Given the description of an element on the screen output the (x, y) to click on. 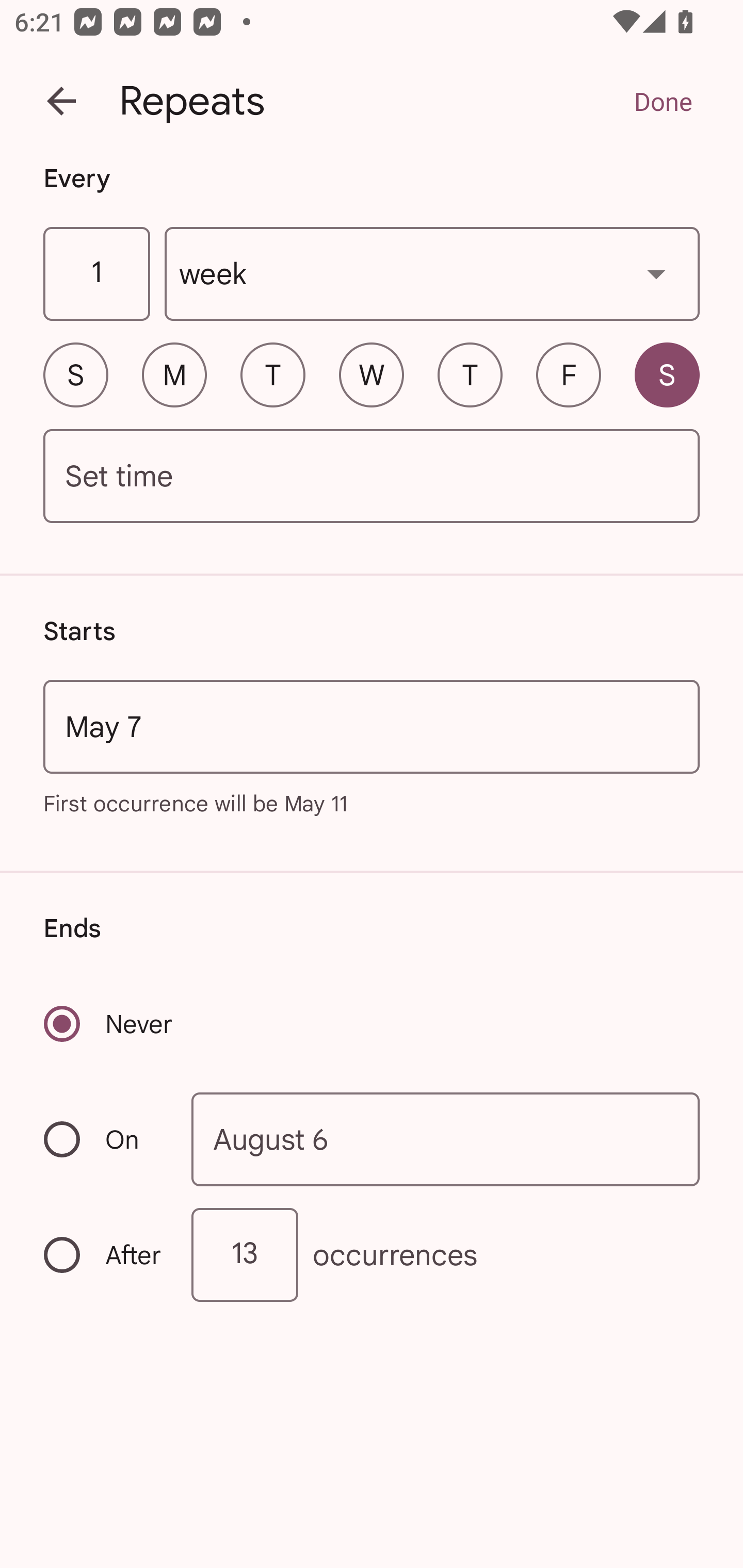
Back (61, 101)
Done (663, 101)
1 (96, 274)
week (431, 274)
Show dropdown menu (655, 273)
S Sunday (75, 374)
M Monday (173, 374)
T Tuesday (272, 374)
W Wednesday (371, 374)
T Thursday (469, 374)
F Friday (568, 374)
S Saturday, selected (666, 374)
Set time (371, 476)
May 7 (371, 726)
Never Recurrence never ends (109, 1023)
August 6 (445, 1139)
On Recurrence ends on a specific date (104, 1138)
13 (244, 1254)
